Given the description of an element on the screen output the (x, y) to click on. 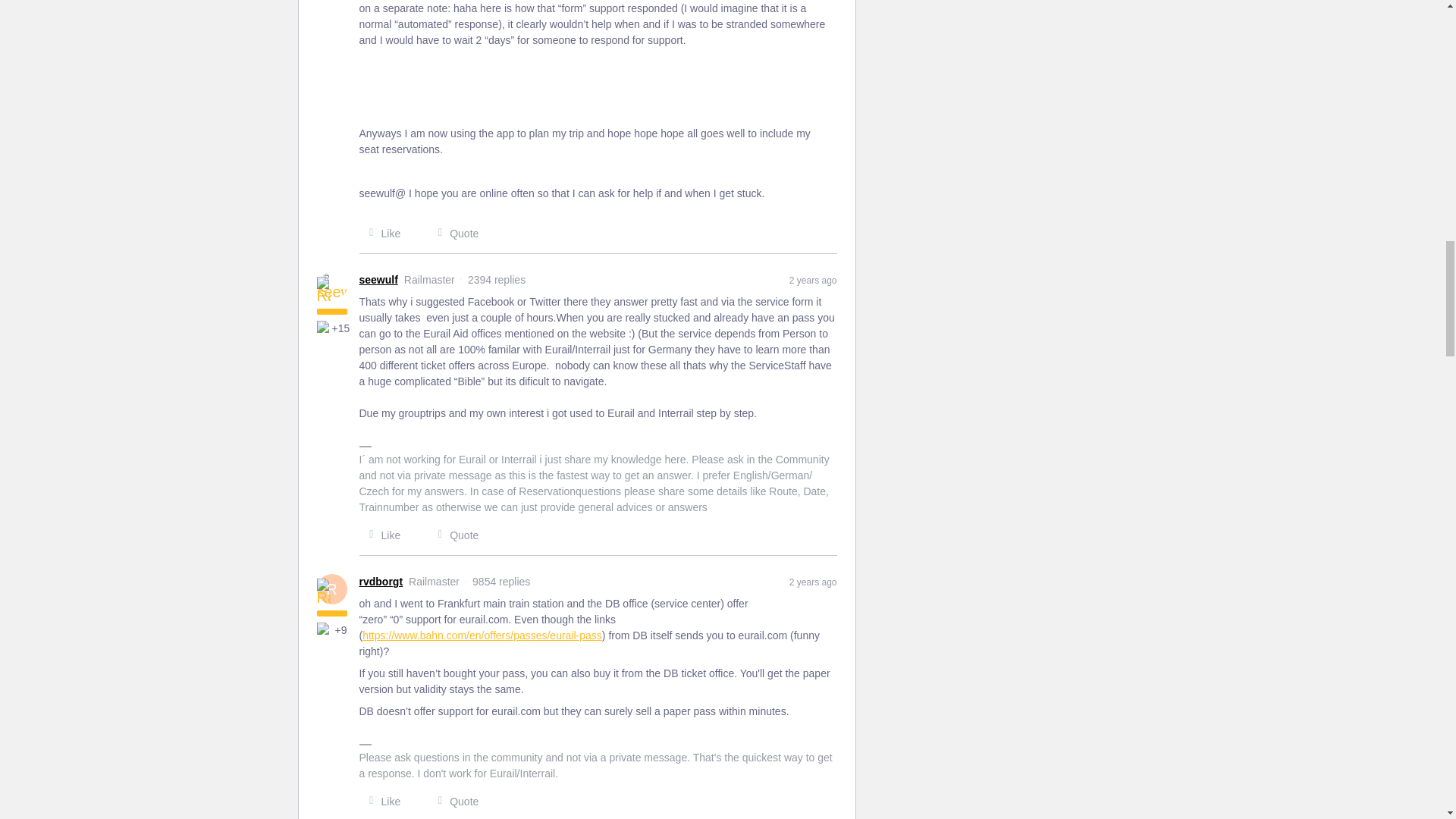
2 years ago (813, 279)
seewulf (378, 279)
Like (380, 534)
Travel Guide (324, 328)
Like (380, 233)
Quote (453, 233)
Curious mind (324, 630)
Quote (453, 534)
rvdborgt (381, 581)
seewulf (378, 279)
